Given the description of an element on the screen output the (x, y) to click on. 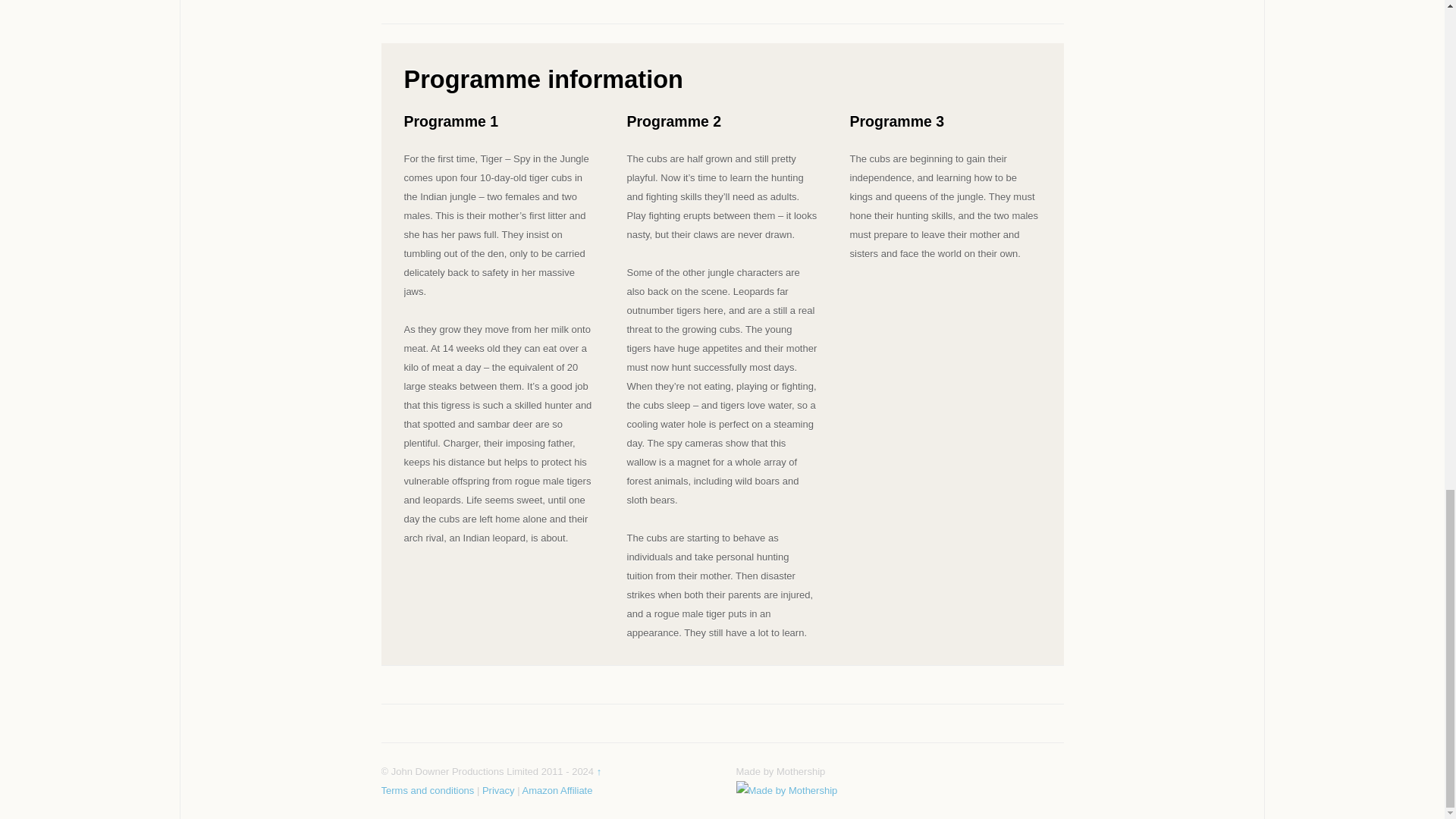
Terms and conditions (427, 790)
Made by Mothership (786, 790)
Amazon affiliate programme (556, 790)
Terms and conditions (427, 790)
Privacy (498, 790)
